Given the description of an element on the screen output the (x, y) to click on. 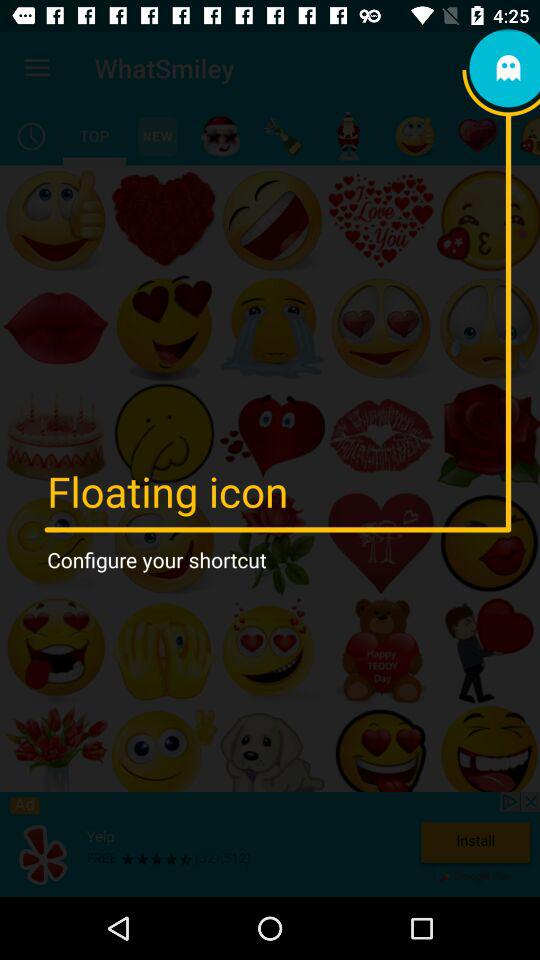
tap the item below the whatsmiley (220, 136)
